Given the description of an element on the screen output the (x, y) to click on. 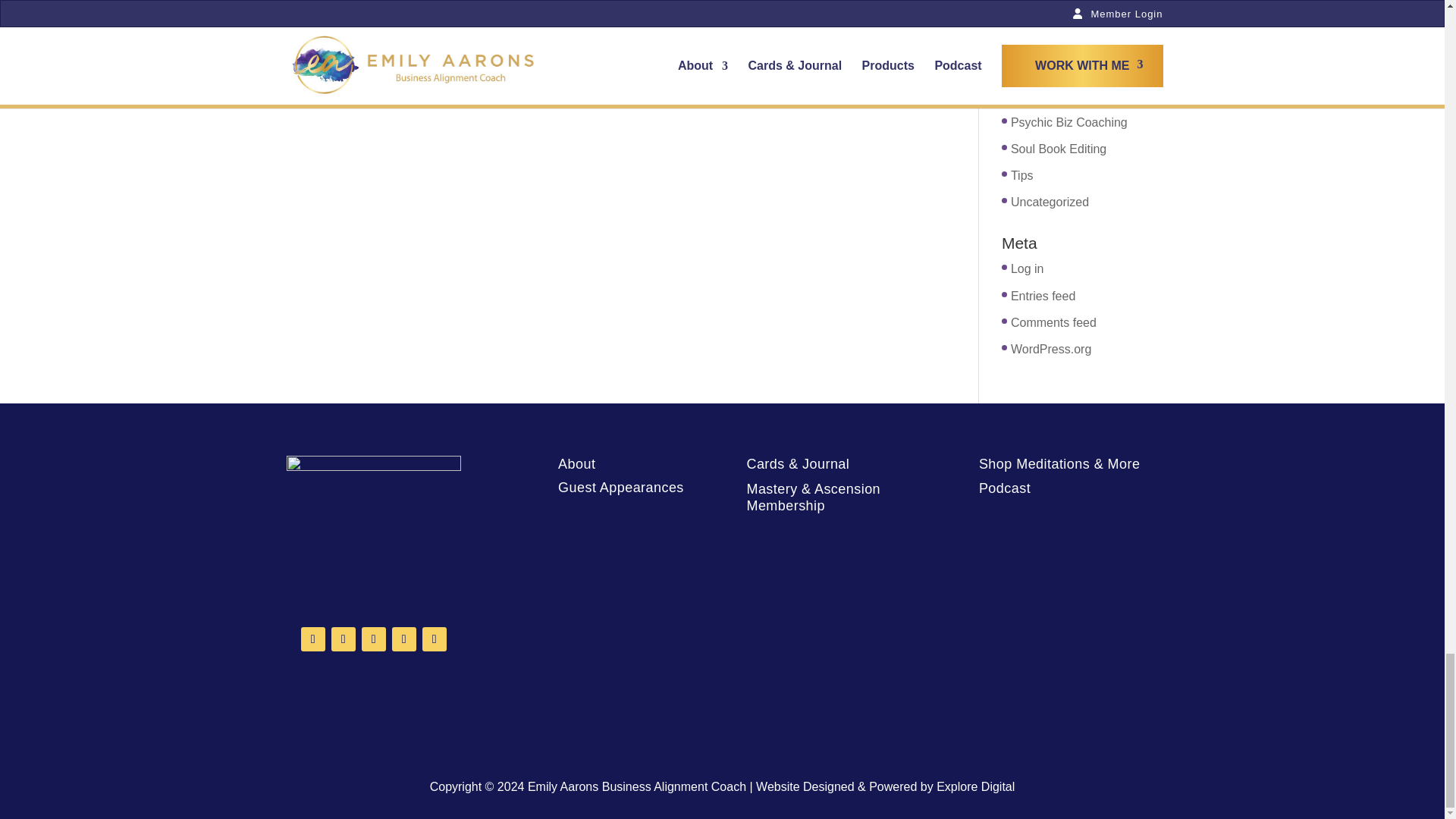
Follow on Pinterest (373, 639)
footer-logo (373, 528)
Follow on Instagram (343, 639)
Follow on LinkedIn (434, 639)
Follow on Facebook (312, 639)
Follow on Youtube (403, 639)
